Given the description of an element on the screen output the (x, y) to click on. 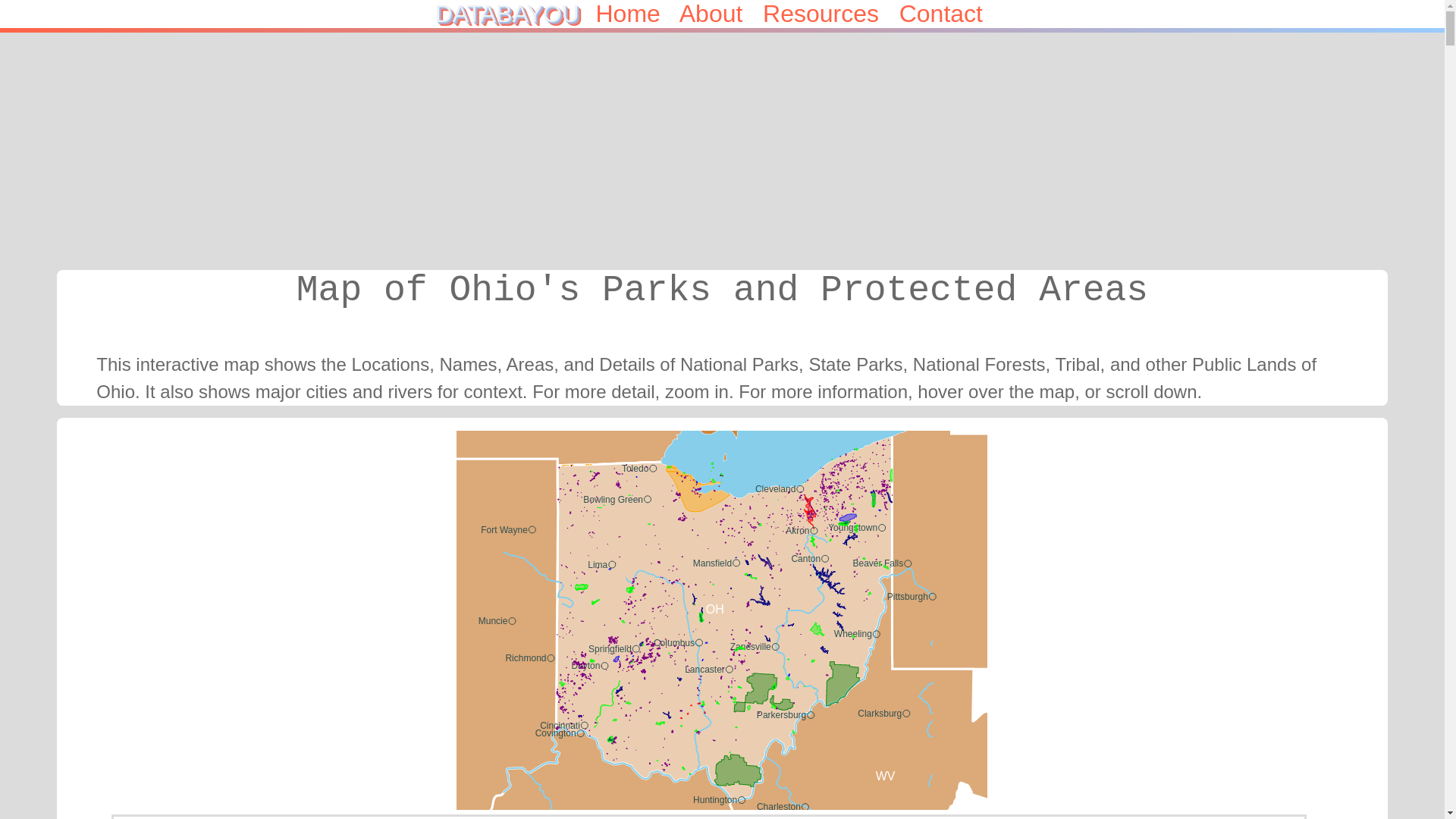
DATABAYOU   (512, 13)
Home   (637, 13)
Contact     (954, 13)
About   (720, 13)
Resources   (830, 13)
